Given the description of an element on the screen output the (x, y) to click on. 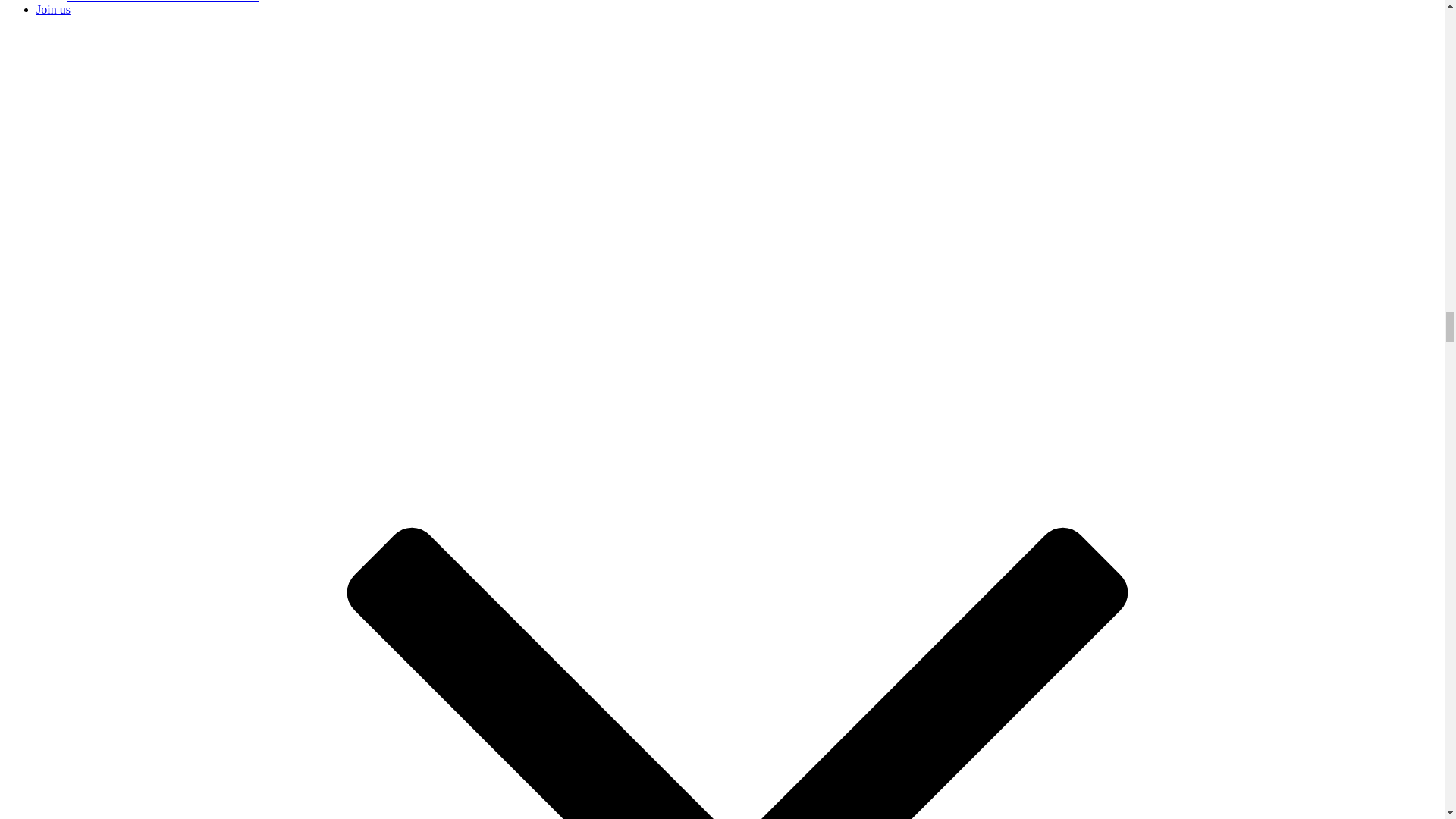
COVID-19 Communication Task Force (162, 1)
